Given the description of an element on the screen output the (x, y) to click on. 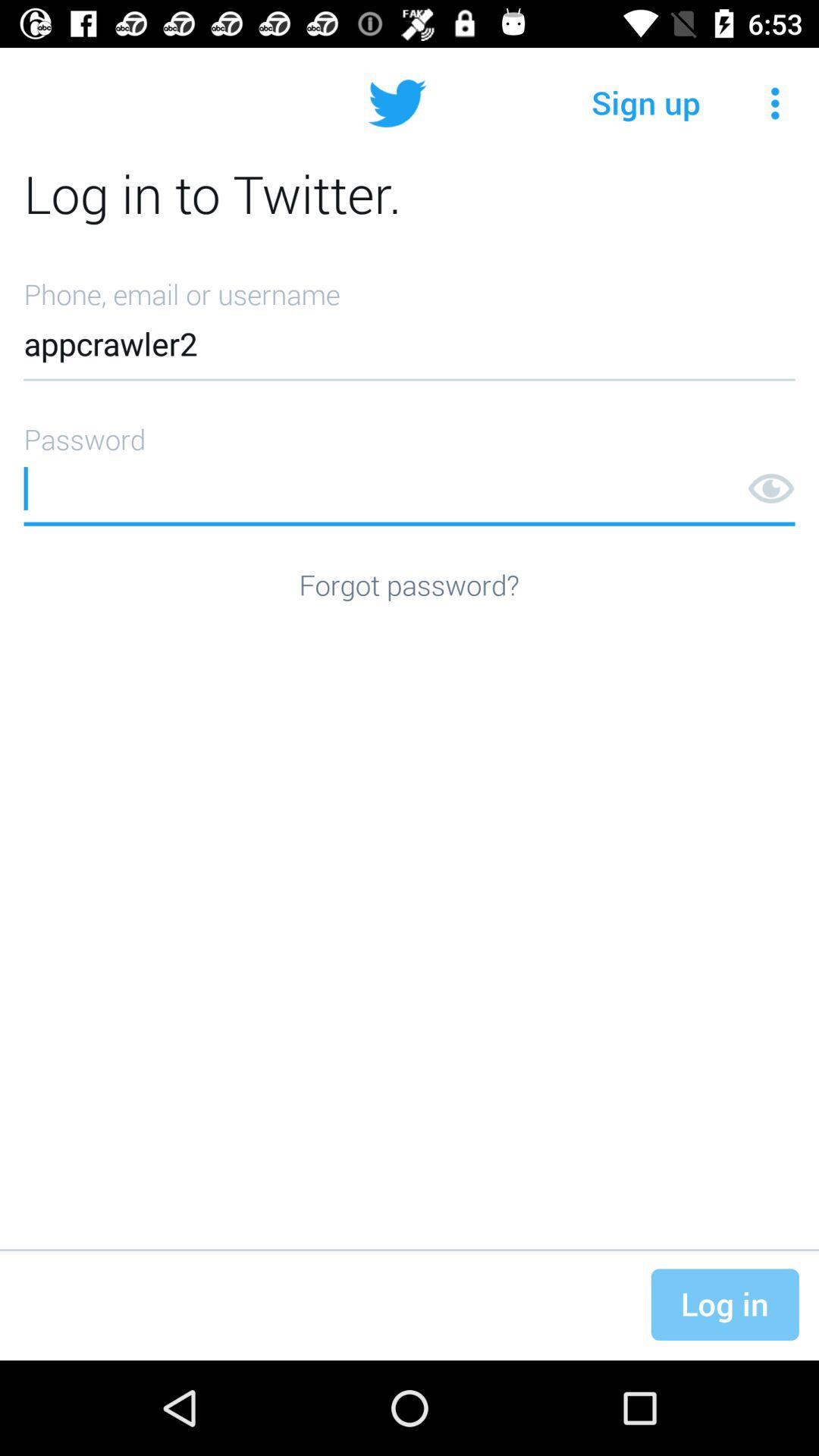
swipe to the sign up (645, 103)
